Given the description of an element on the screen output the (x, y) to click on. 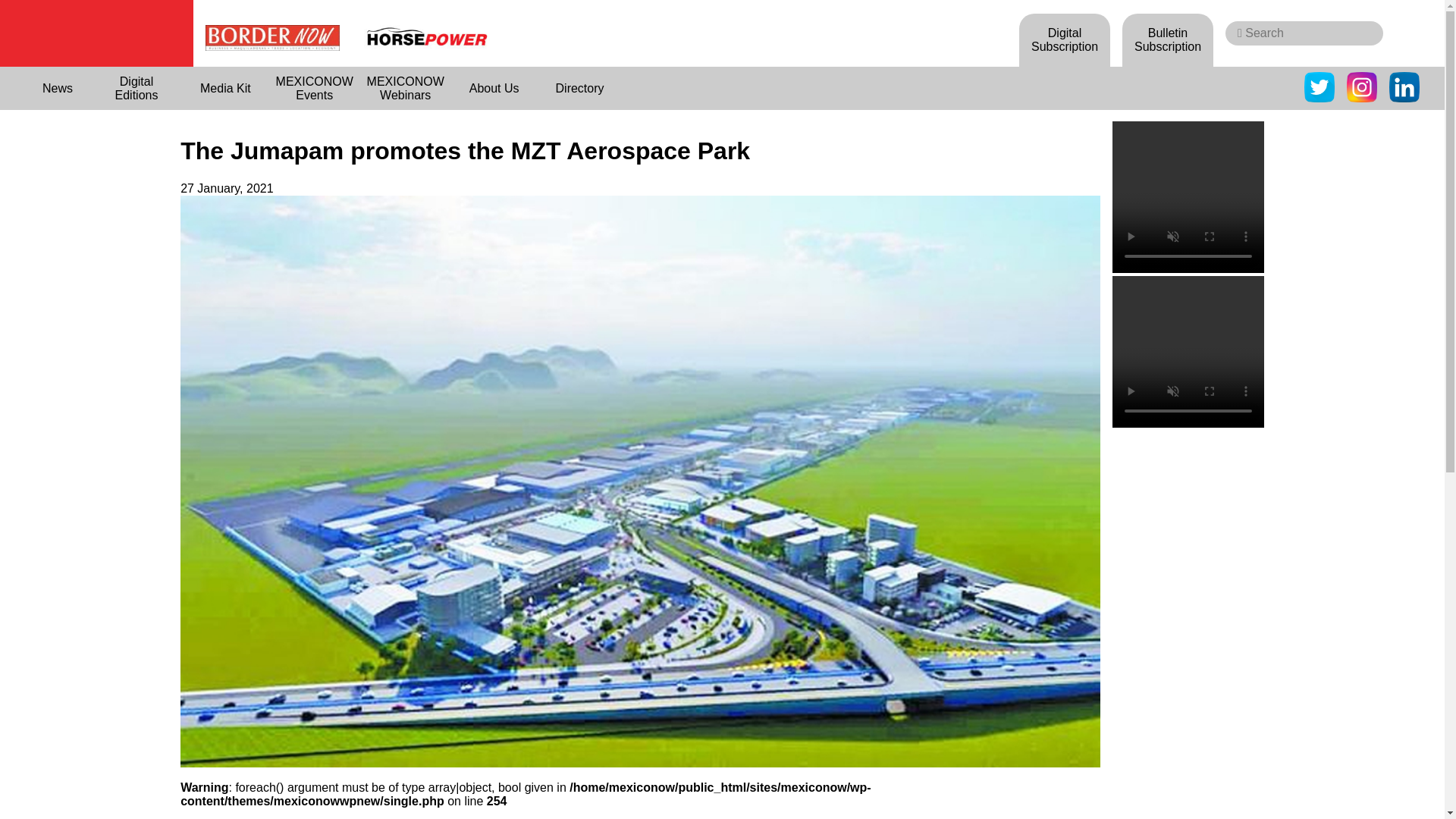
MEXICONOW Events (314, 87)
News (57, 87)
About Us (494, 87)
MEXICONOW Webinars (405, 87)
Directory (580, 87)
Bulletin Subscription (1167, 39)
Digital Subscription (1064, 39)
Digital Editions (136, 87)
Media Kit (225, 87)
